Given the description of an element on the screen output the (x, y) to click on. 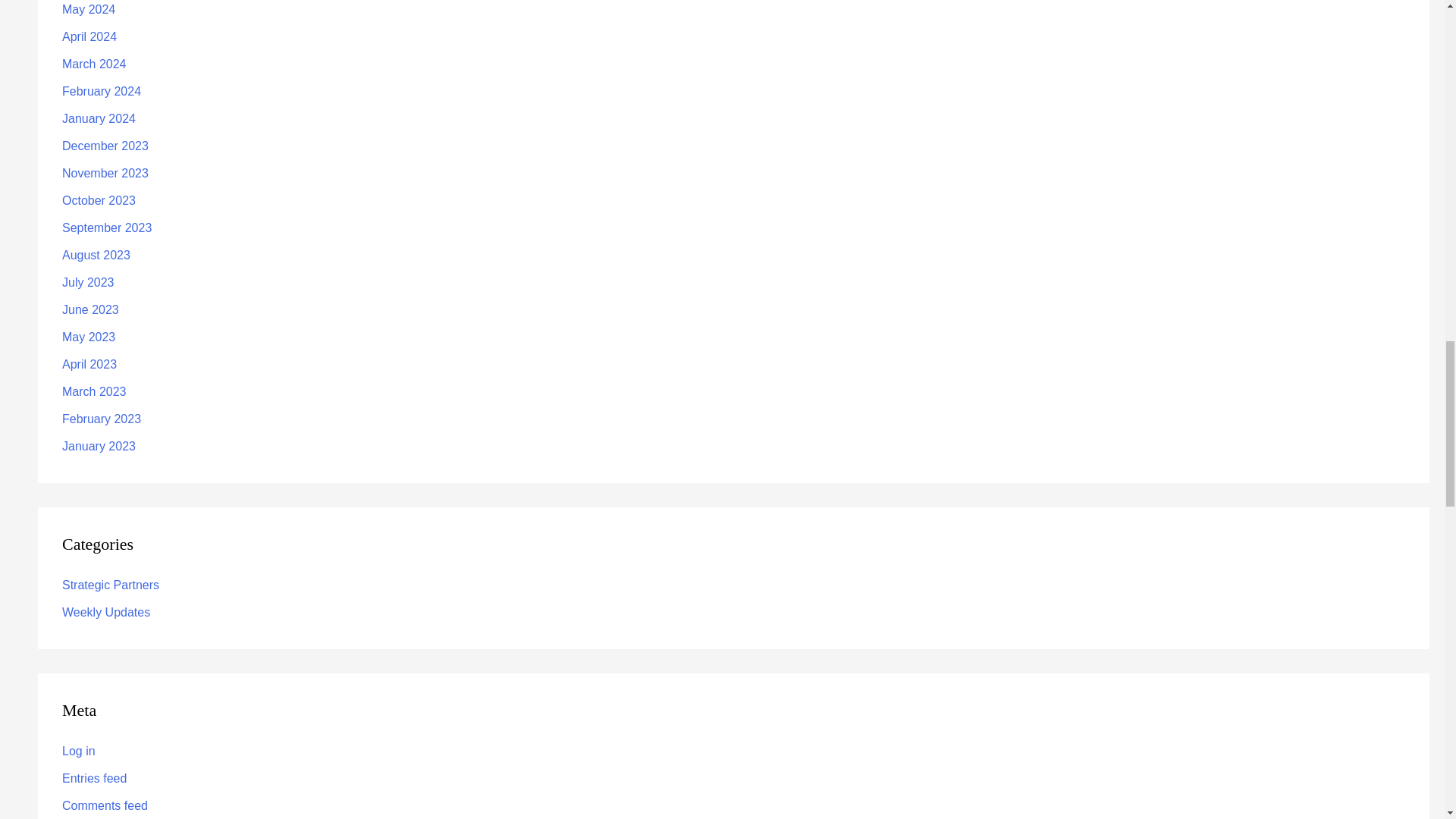
September 2023 (106, 227)
February 2024 (101, 91)
January 2024 (98, 118)
December 2023 (105, 145)
April 2024 (89, 36)
November 2023 (105, 173)
March 2024 (94, 63)
May 2024 (88, 9)
October 2023 (98, 200)
